Given the description of an element on the screen output the (x, y) to click on. 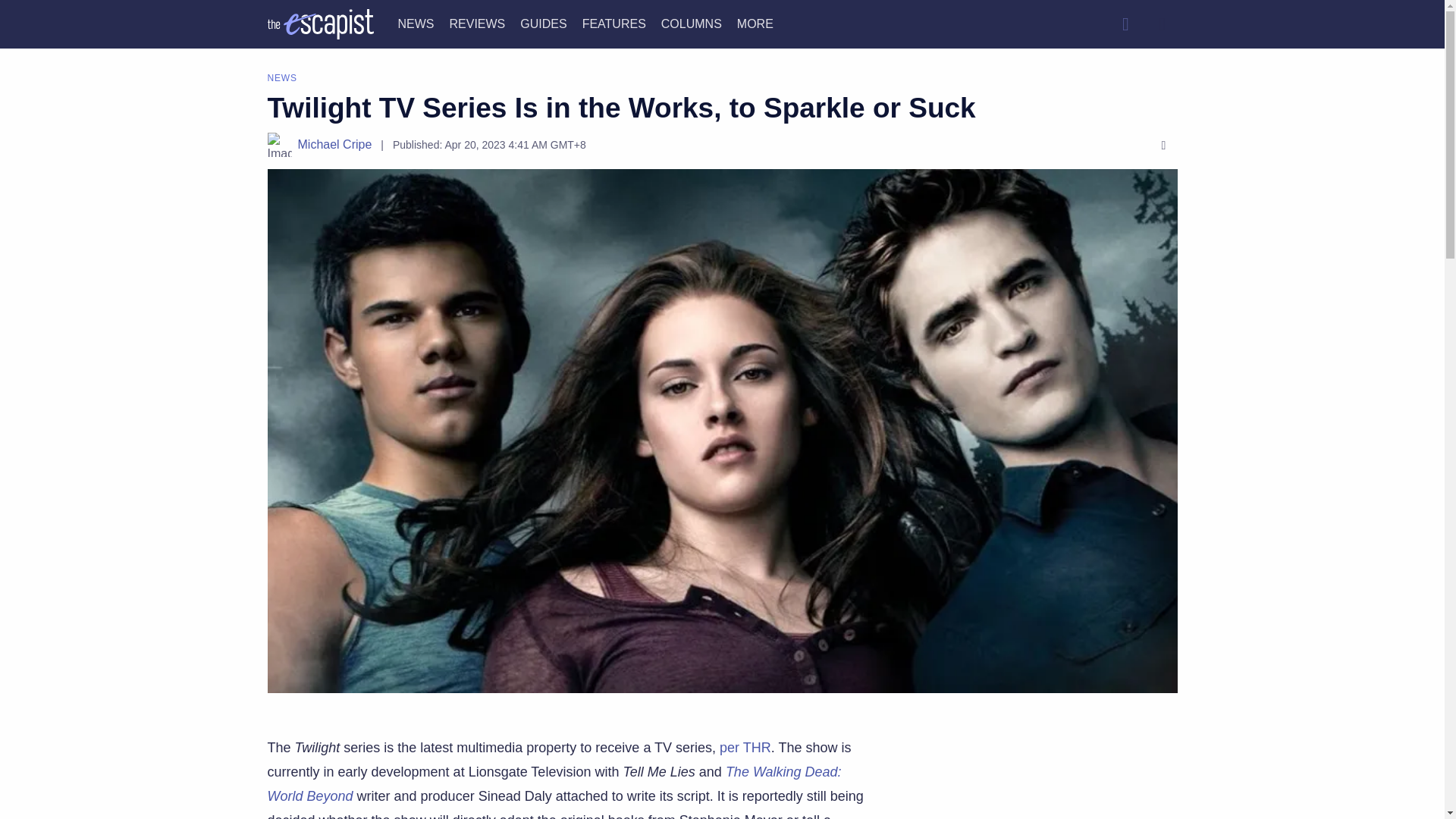
GUIDES (542, 23)
NEWS (415, 23)
REVIEWS (476, 23)
COLUMNS (691, 23)
Dark Mode (1161, 24)
FEATURES (614, 23)
Search (1124, 24)
